Given the description of an element on the screen output the (x, y) to click on. 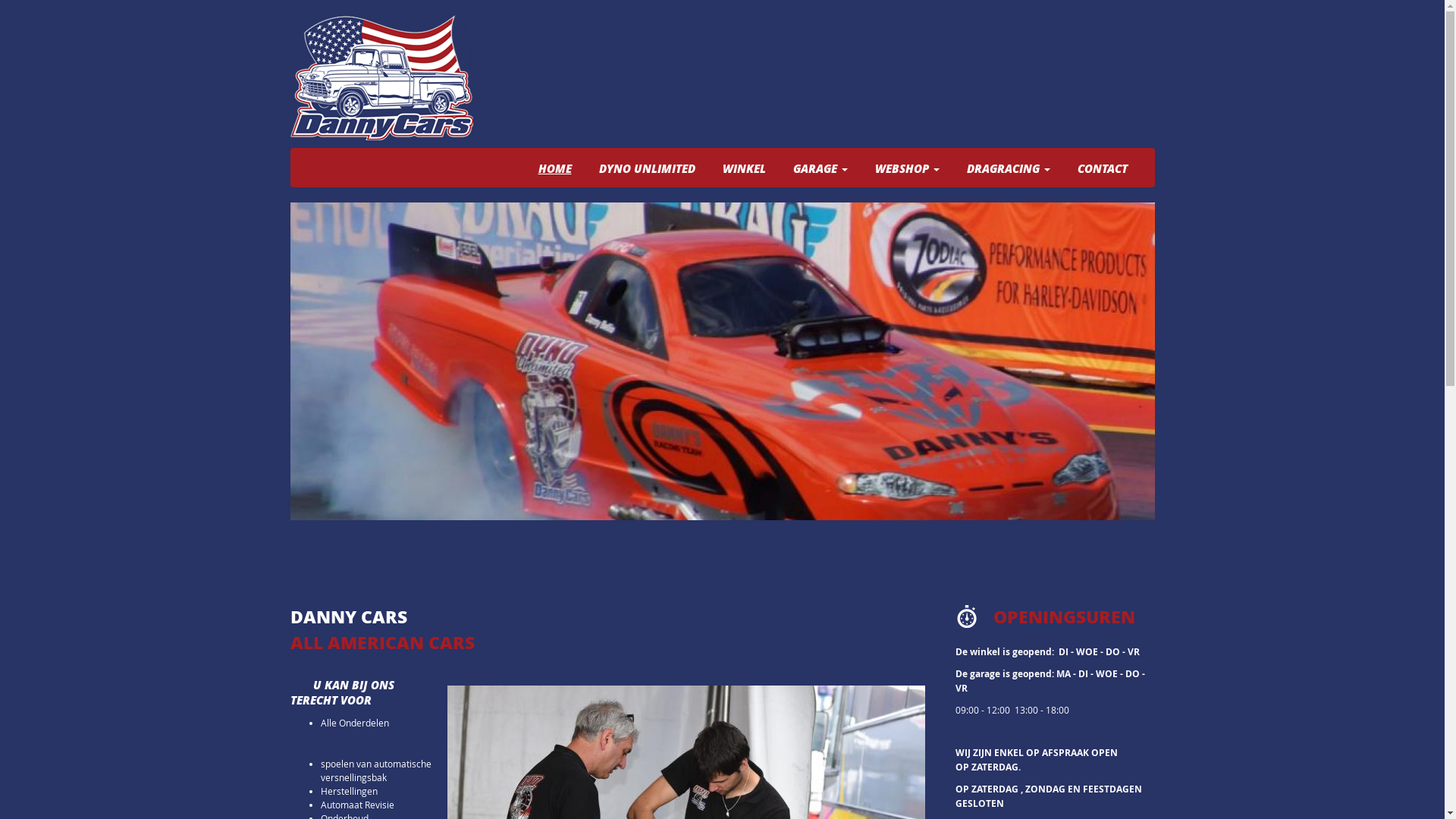
DRAGRACING Element type: text (1008, 168)
Overslaan en naar de algemene inhoud gaan Element type: text (95, 0)
HOME Element type: text (554, 168)
CONTACT Element type: text (1102, 168)
WEBSHOP Element type: text (906, 168)
DYNO UNLIMITED Element type: text (646, 168)
WINKEL Element type: text (744, 168)
GARAGE Element type: text (819, 168)
